Given the description of an element on the screen output the (x, y) to click on. 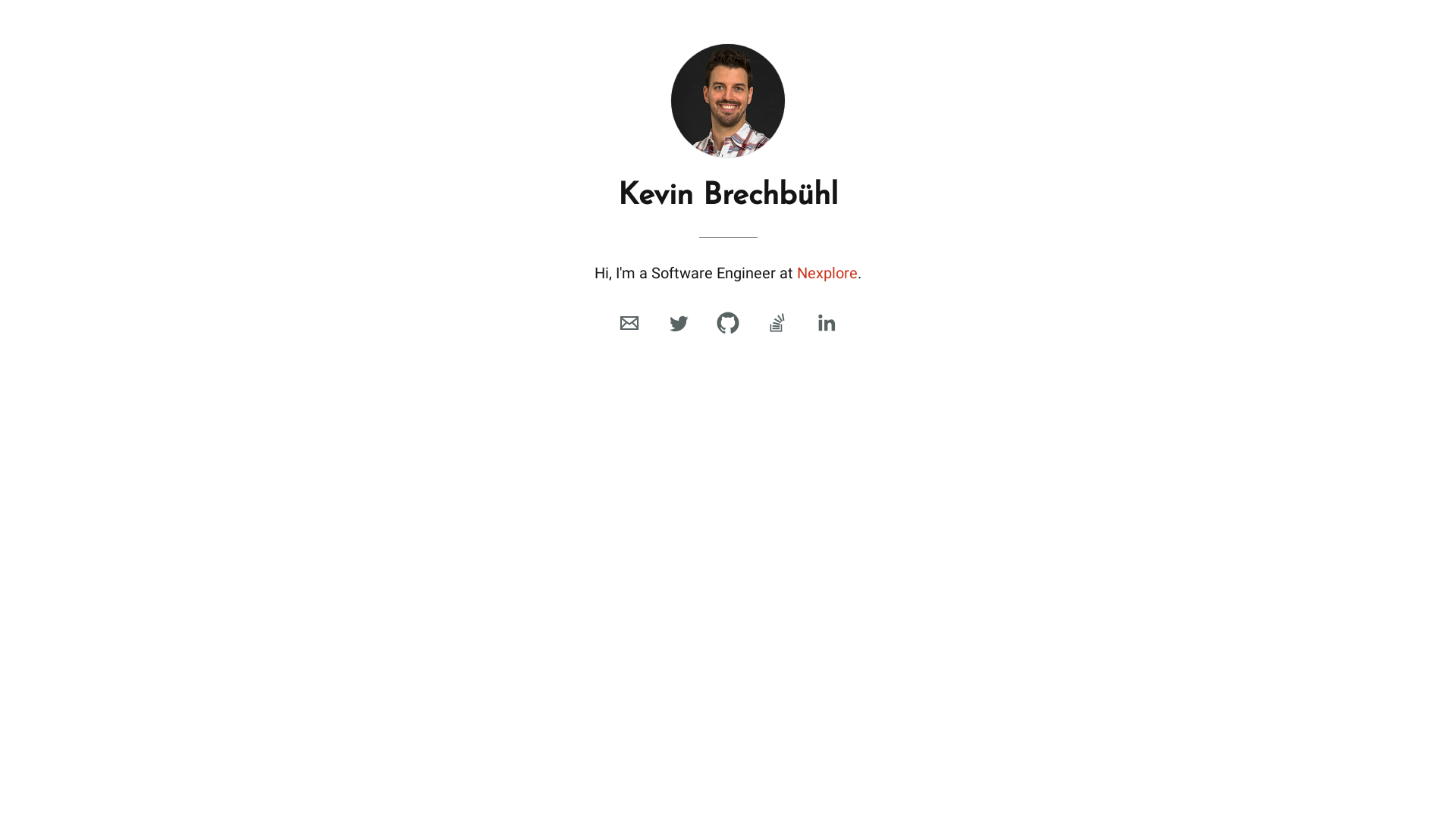
Stack Overflow Element type: hover (777, 322)
GitHub Element type: hover (727, 322)
Nexplore Element type: text (827, 272)
Twitter Element type: hover (678, 322)
Mail Element type: hover (629, 322)
LinkedIn Element type: hover (826, 322)
